Given the description of an element on the screen output the (x, y) to click on. 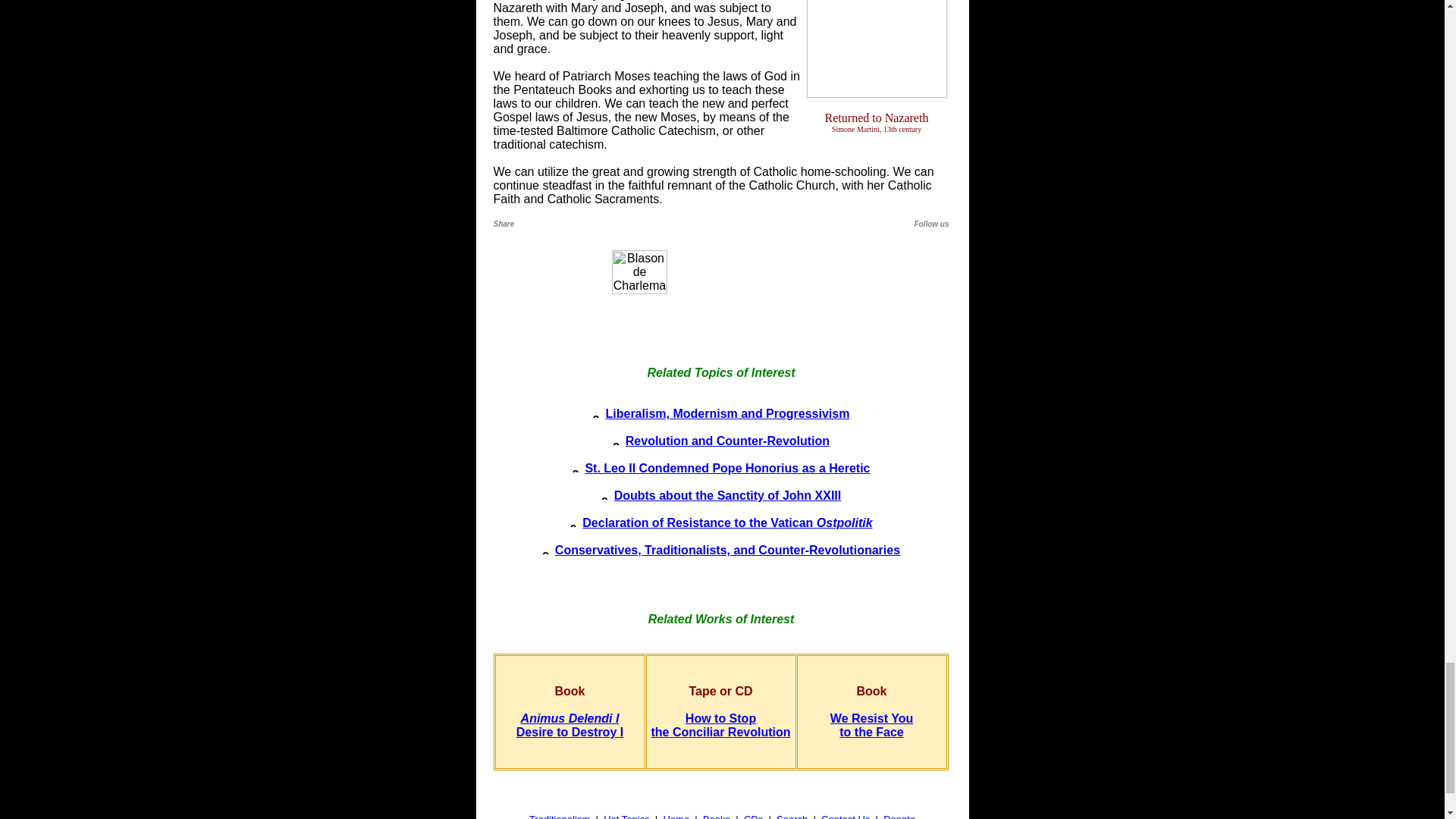
Search (720, 724)
Home (792, 816)
Doubts about the Sanctity of John XXIII (870, 724)
Revolution and Counter-Revolution (675, 816)
Hot Topics (569, 724)
Traditionalism (727, 495)
Conservatives, Traditionalists, and Counter-Revolutionaries (727, 440)
